Given the description of an element on the screen output the (x, y) to click on. 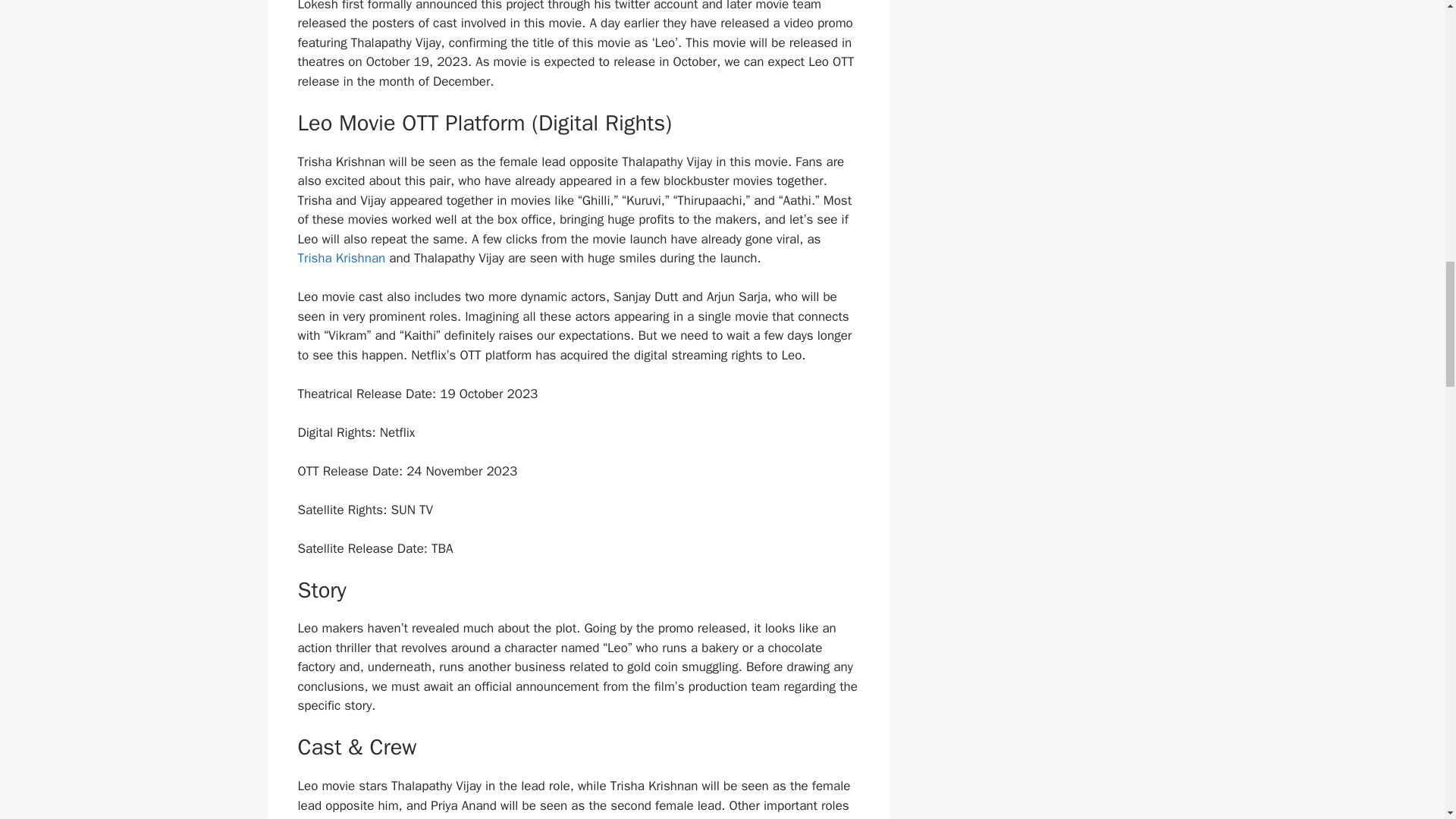
Trisha Krishnan (341, 258)
